Given the description of an element on the screen output the (x, y) to click on. 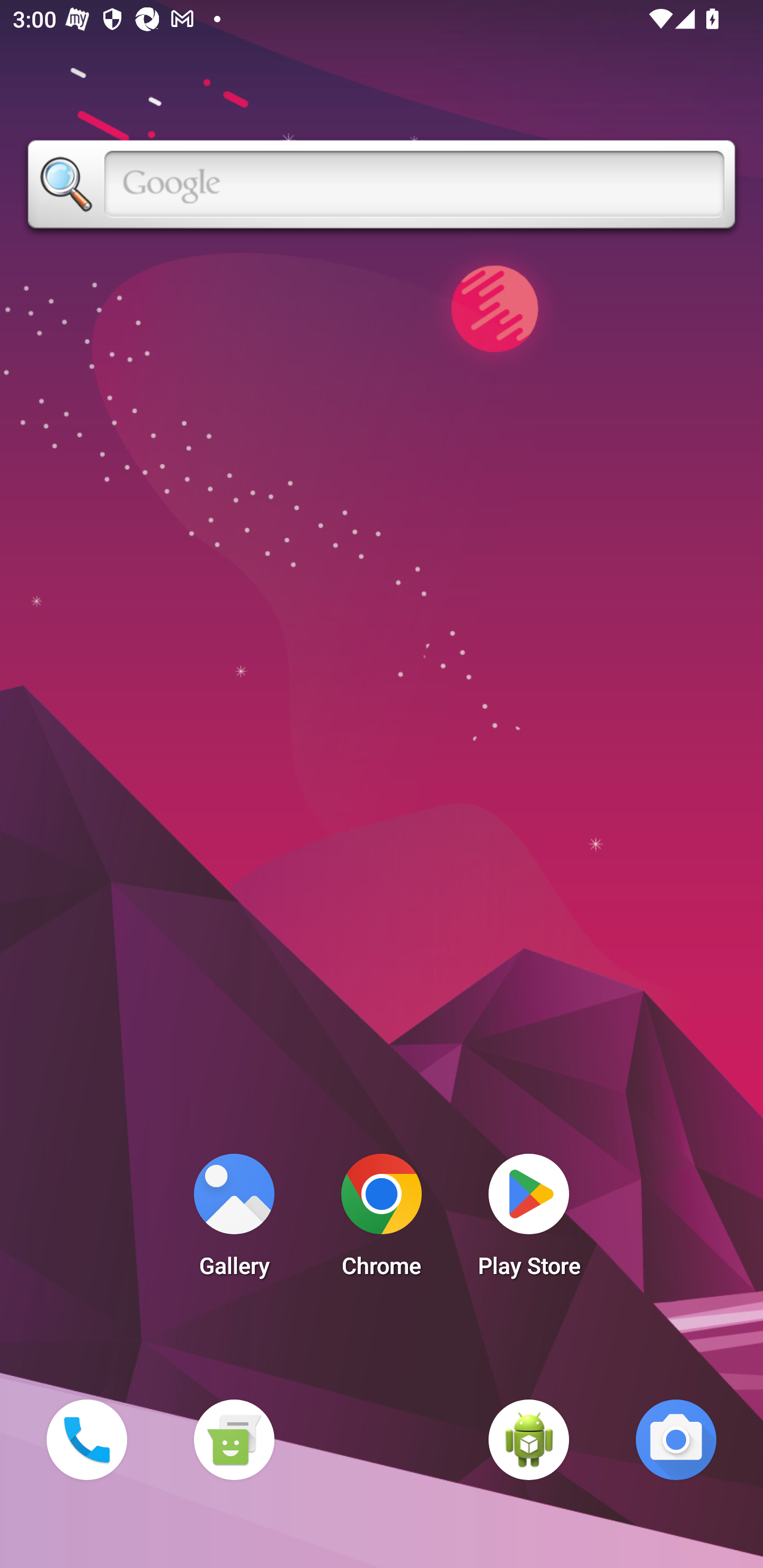
Gallery (233, 1220)
Chrome (381, 1220)
Play Store (528, 1220)
Phone (86, 1439)
Messaging (233, 1439)
WebView Browser Tester (528, 1439)
Camera (676, 1439)
